Given the description of an element on the screen output the (x, y) to click on. 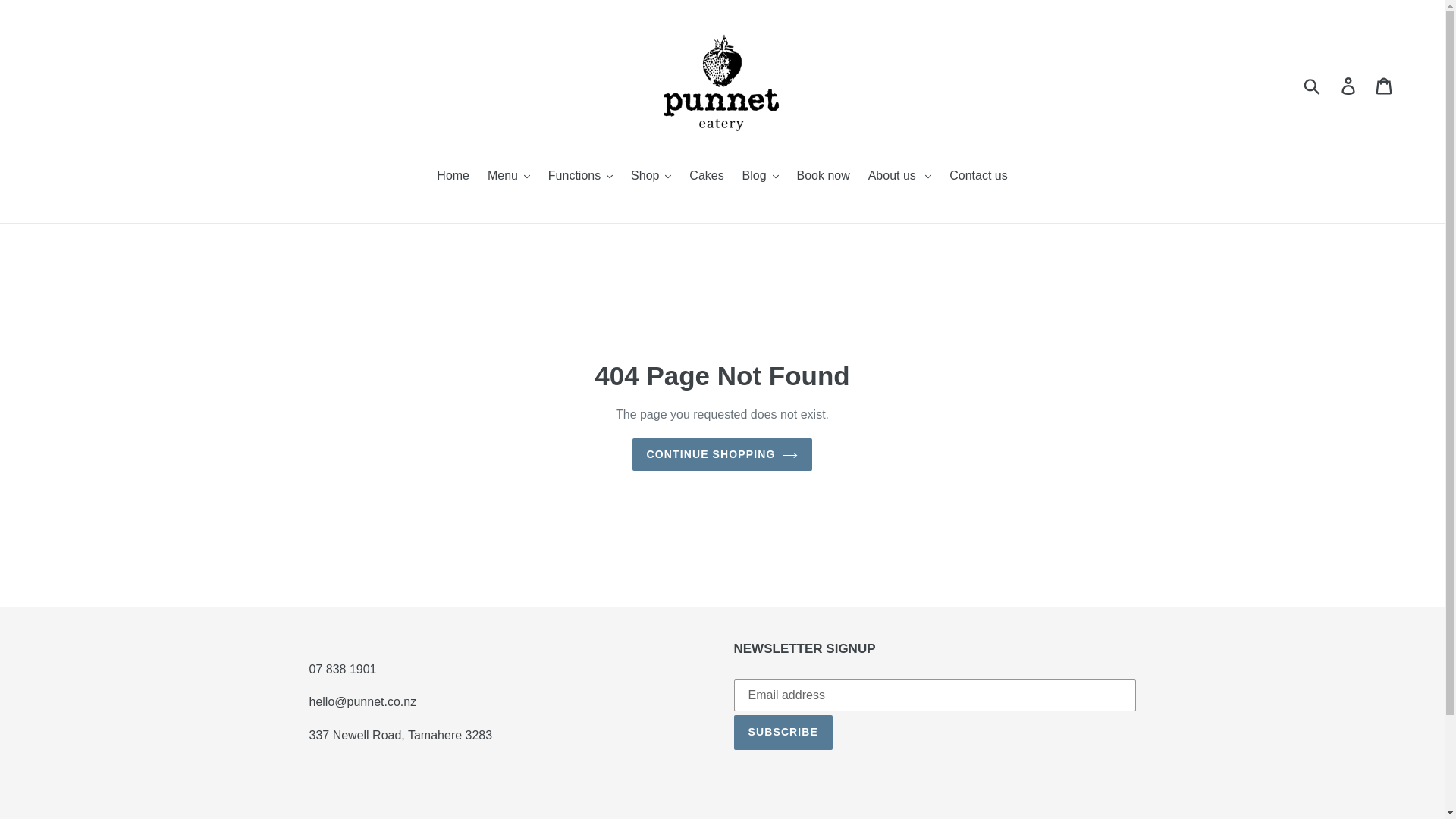
Cart (1385, 84)
Log in (1349, 84)
Submit (1313, 84)
Functions (362, 701)
Home (453, 177)
